Given the description of an element on the screen output the (x, y) to click on. 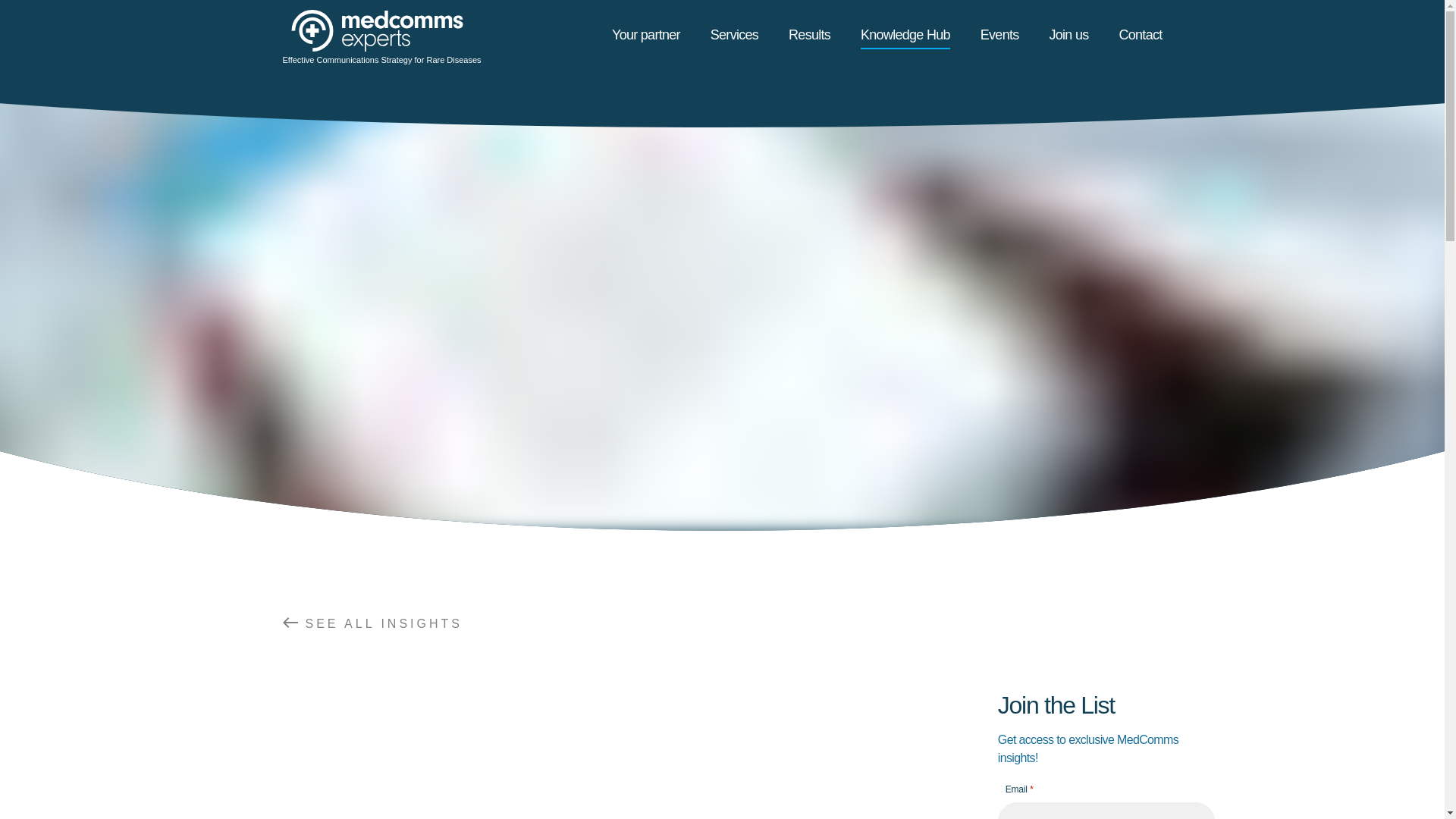
Knowledge Hub (905, 34)
Join us (1069, 34)
Services (734, 34)
Your partner (645, 34)
Effective Communications Strategy for Rare Diseases (381, 37)
Effective Communications Strategy for Rare Diseases (381, 37)
Contact (1140, 34)
SEE ALL INSIGHTS (567, 623)
Results (809, 34)
Events (999, 34)
